Given the description of an element on the screen output the (x, y) to click on. 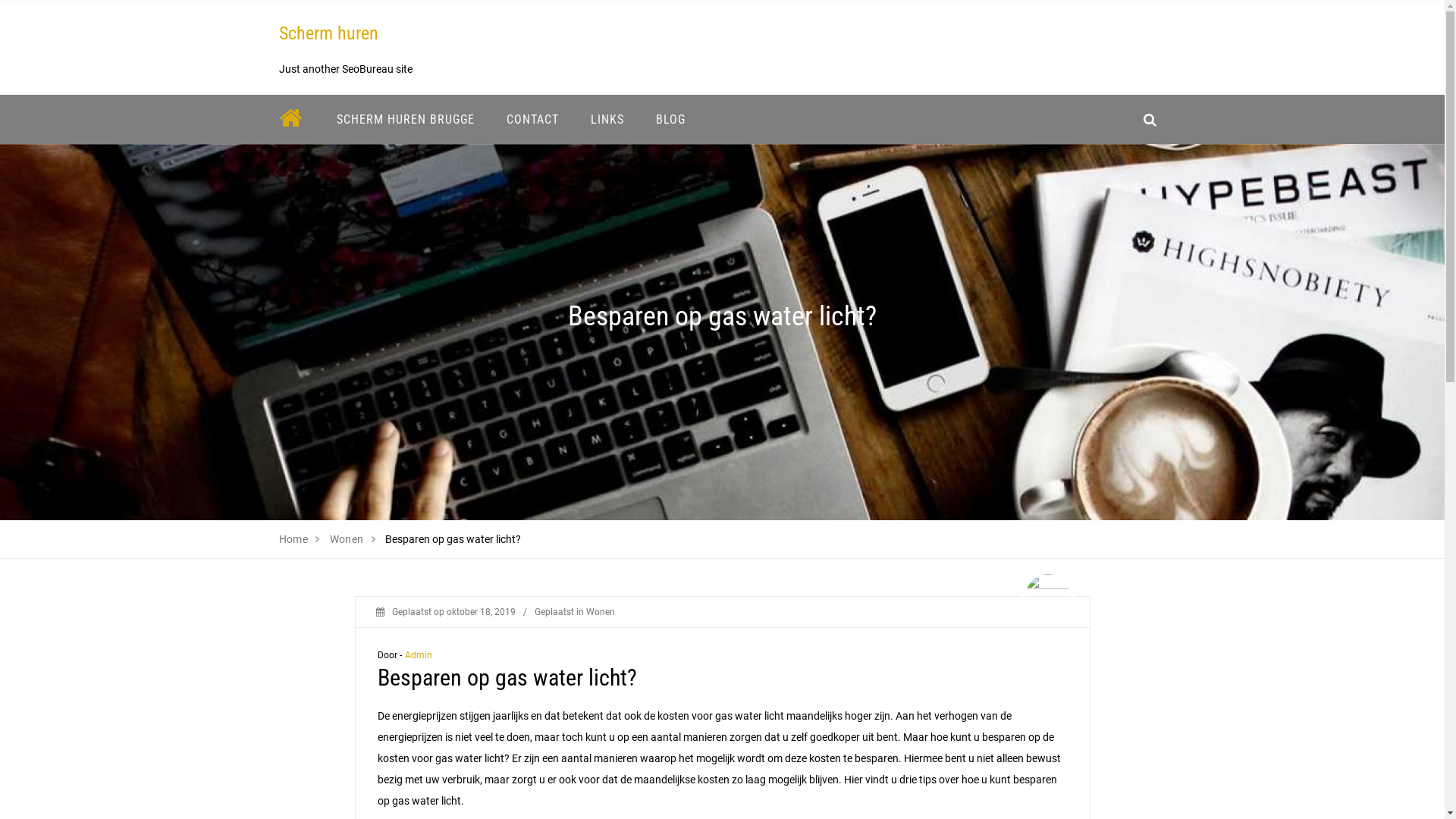
BLOG Element type: text (670, 119)
Home Element type: text (293, 539)
Admin Element type: text (418, 654)
Wonen Element type: text (346, 539)
LINKS Element type: text (606, 119)
search_icon Element type: hover (1148, 119)
SCHERM HUREN BRUGGE Element type: text (404, 119)
Wonen Element type: text (599, 611)
CONTACT Element type: text (531, 119)
Scherm huren Element type: text (328, 32)
